Given the description of an element on the screen output the (x, y) to click on. 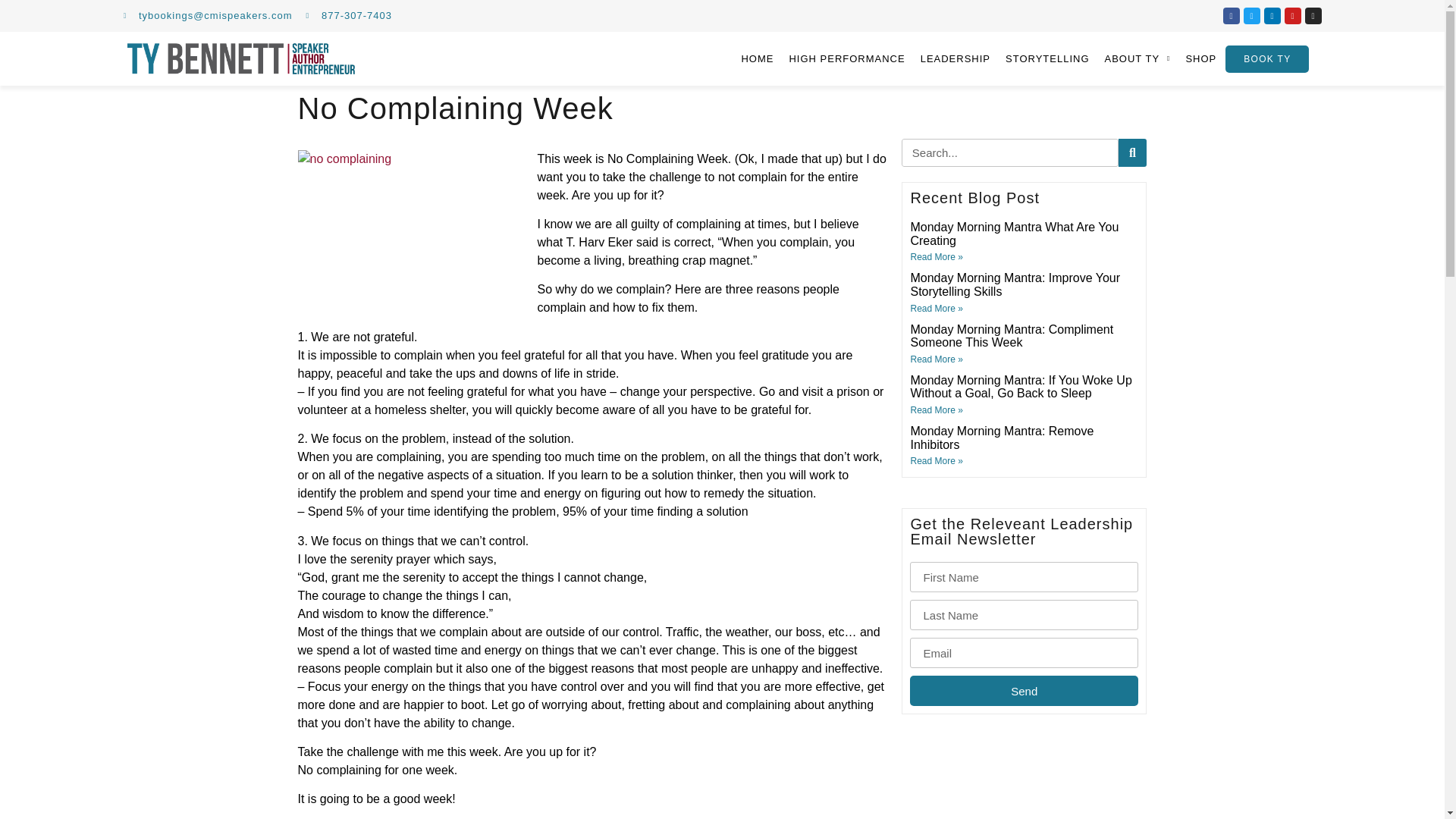
BOOK TY (1266, 58)
HOME (756, 58)
STORYTELLING (1047, 58)
SHOP (1201, 58)
ABOUT TY (1137, 58)
LEADERSHIP (955, 58)
HIGH PERFORMANCE (846, 58)
